Given the description of an element on the screen output the (x, y) to click on. 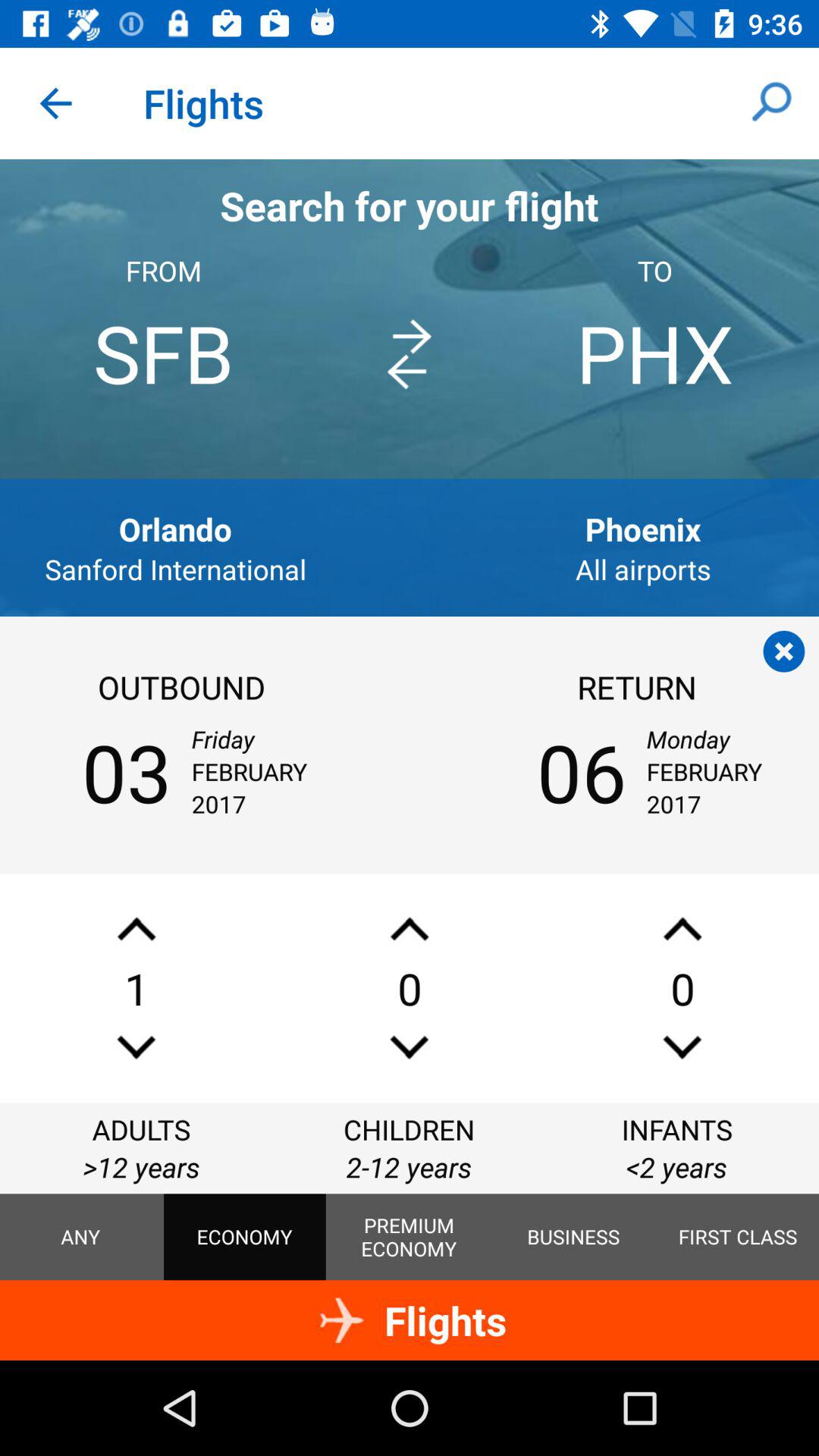
swap locations (408, 354)
